Given the description of an element on the screen output the (x, y) to click on. 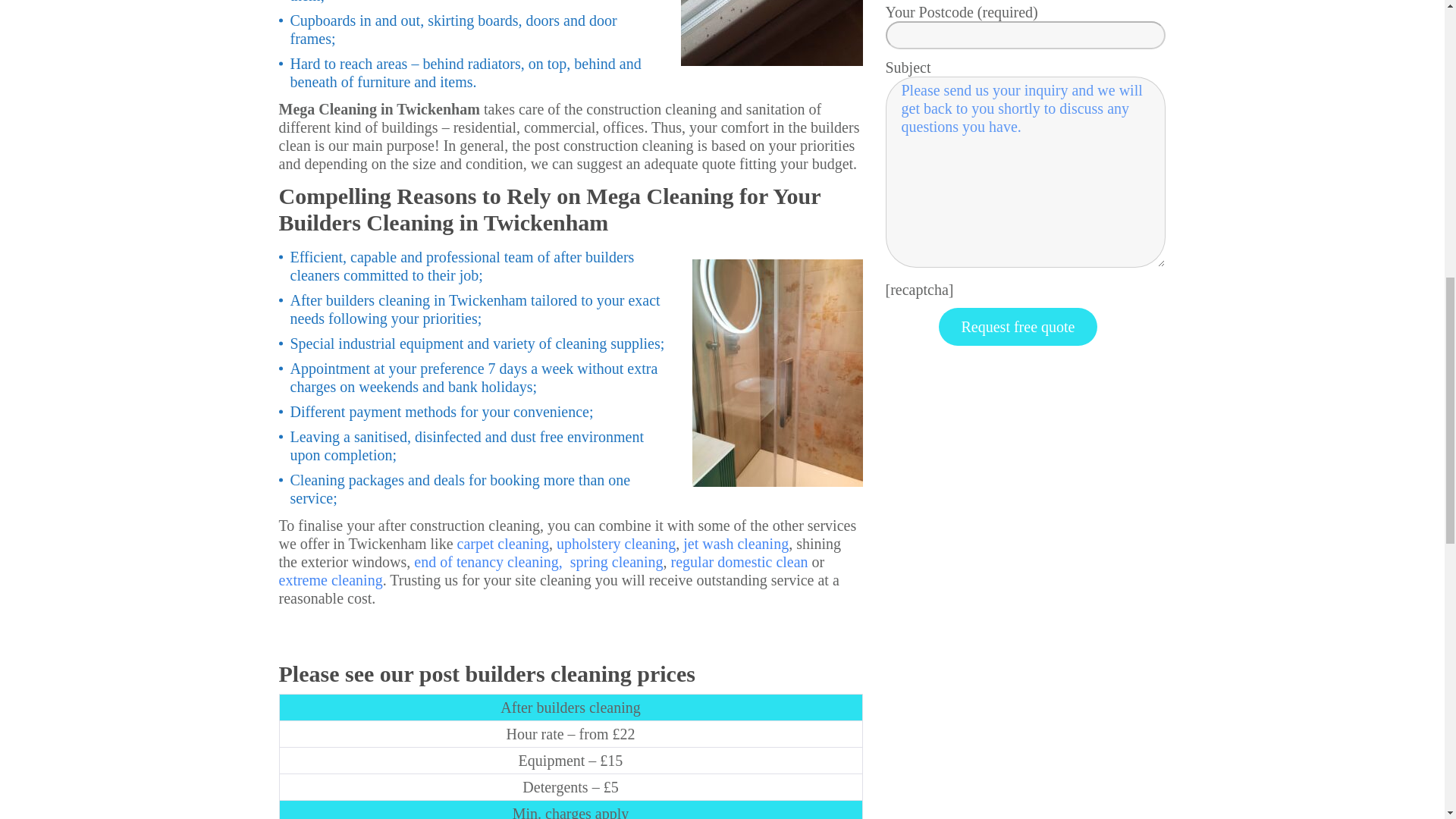
end of tenancy cleaning,  (489, 561)
Request free quote (1018, 326)
Request free quote (1018, 326)
Professional upholstery cleaners in Twickenham (615, 543)
Professional carpet cleaners in Twickenham (503, 543)
upholstery cleaning (615, 543)
jet wash cleaning (735, 543)
regular domestic clean (739, 561)
extreme cleaning (330, 579)
spring cleaning (616, 561)
carpet cleaning (503, 543)
